Given the description of an element on the screen output the (x, y) to click on. 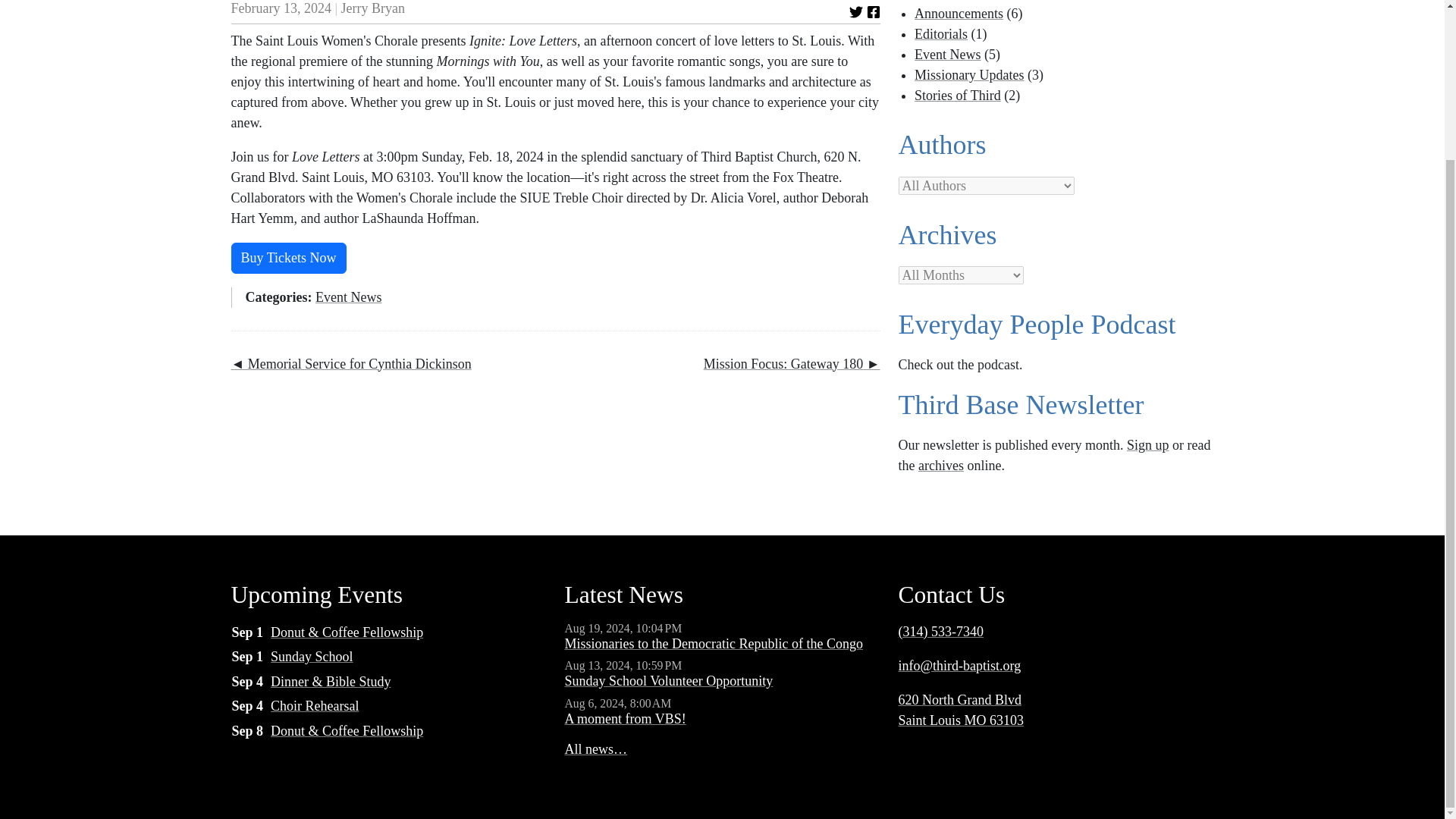
Share on Twitter (855, 11)
Missionaries to the Democratic Republic of the Congo (712, 643)
Stories of Third (957, 95)
Memorial Service for Cynthia Dickinson (350, 363)
Editorials (941, 33)
Missionary Updates (968, 74)
Announcements (958, 13)
Buy Tickets Now (288, 257)
A moment from VBS! (624, 718)
Choir Rehearsal (314, 705)
